Given the description of an element on the screen output the (x, y) to click on. 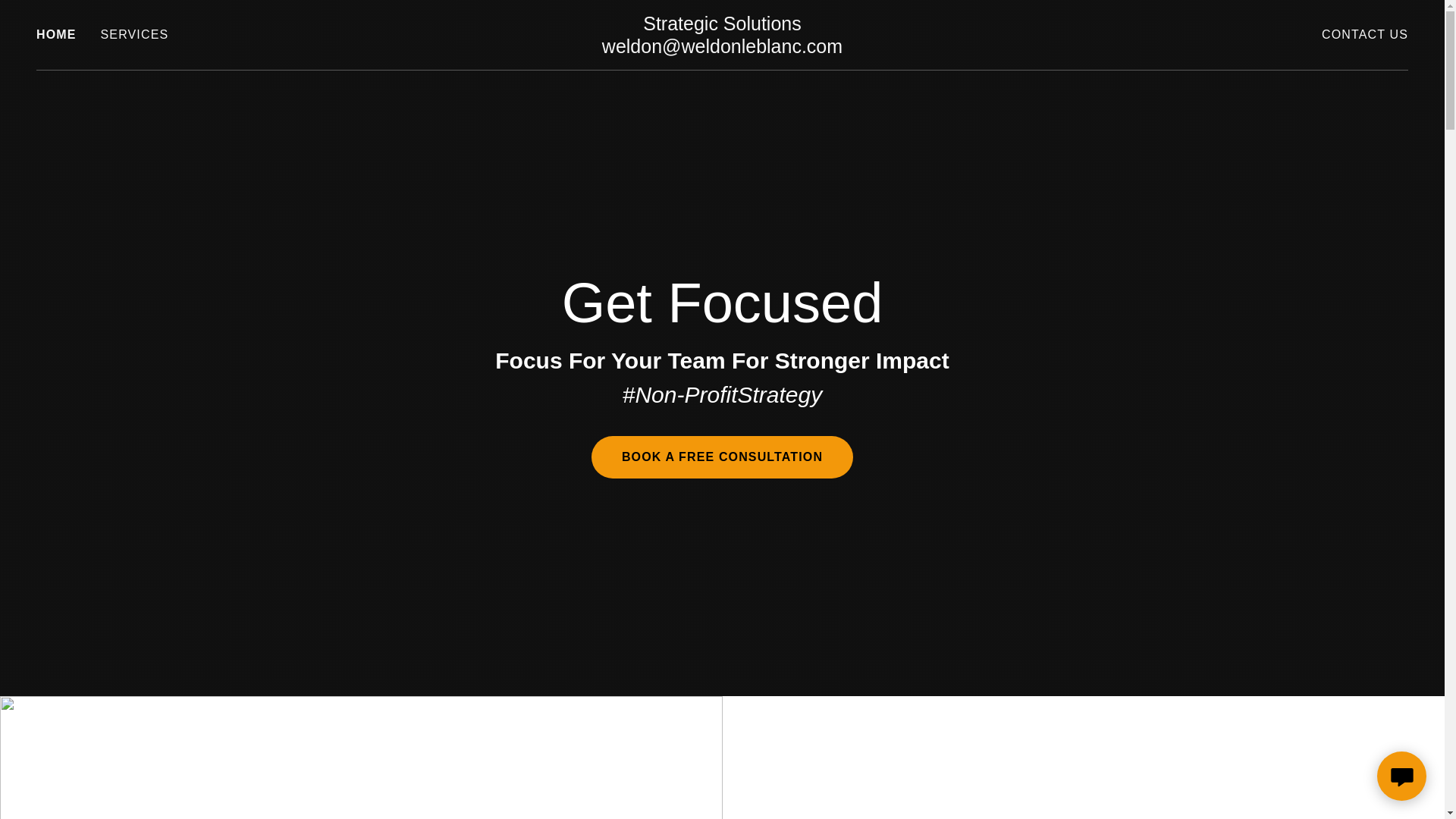
HOME (56, 34)
BOOK A FREE CONSULTATION (722, 456)
SERVICES (134, 34)
CONTACT US (1364, 34)
